Given the description of an element on the screen output the (x, y) to click on. 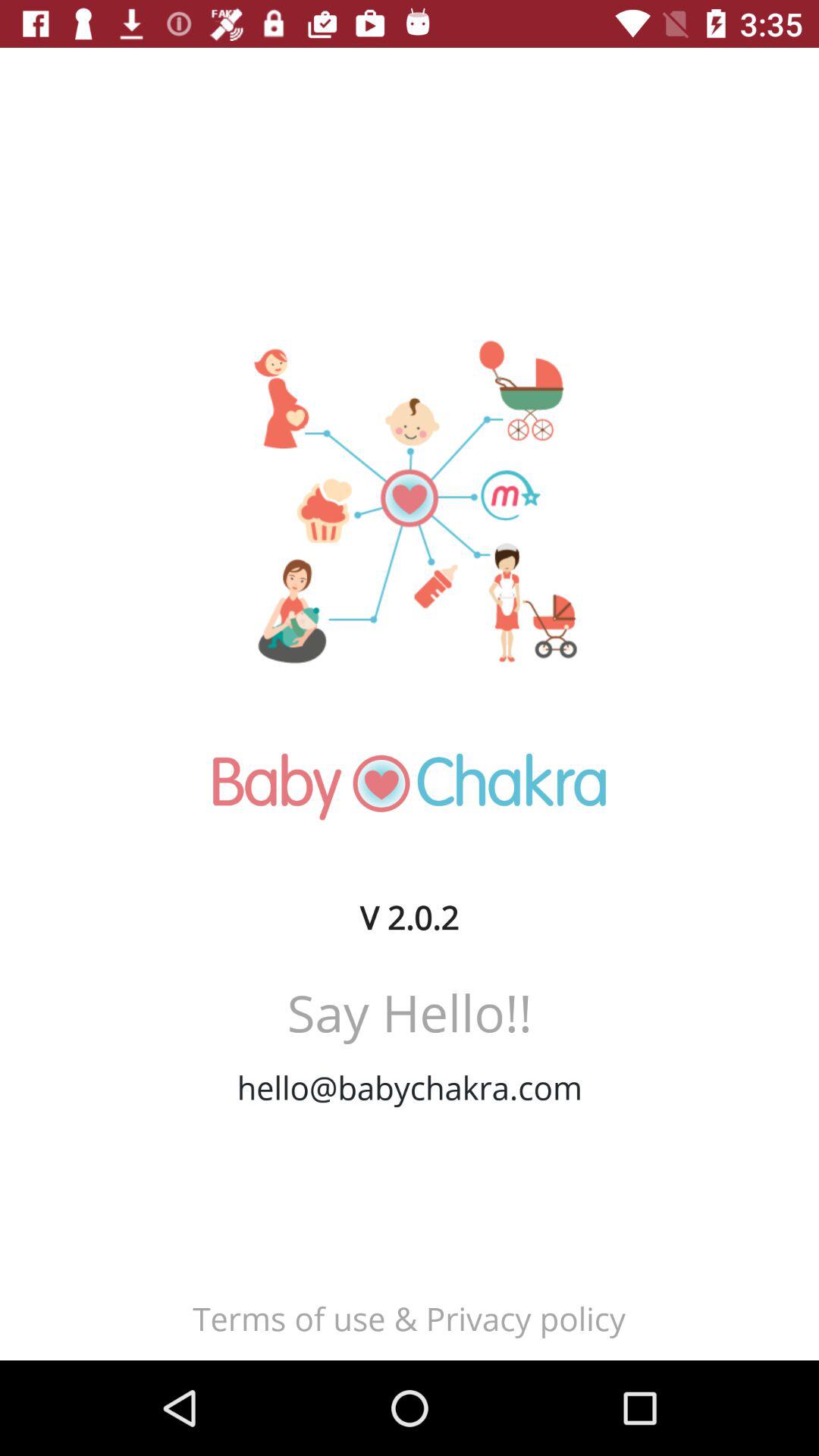
turn off terms of use icon (408, 1318)
